Given the description of an element on the screen output the (x, y) to click on. 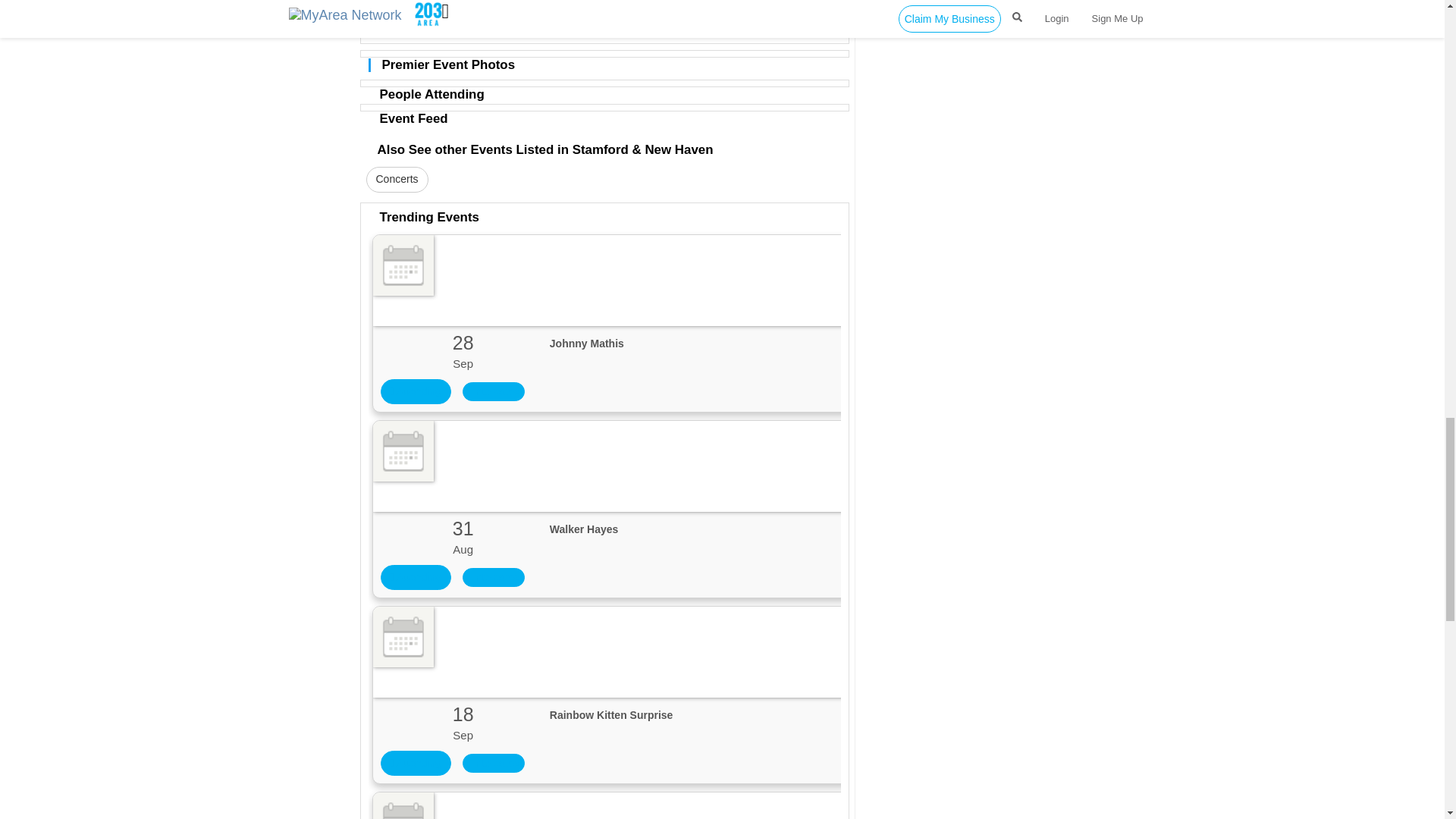
Concerts (396, 179)
Johnny Mathis (751, 351)
